Given the description of an element on the screen output the (x, y) to click on. 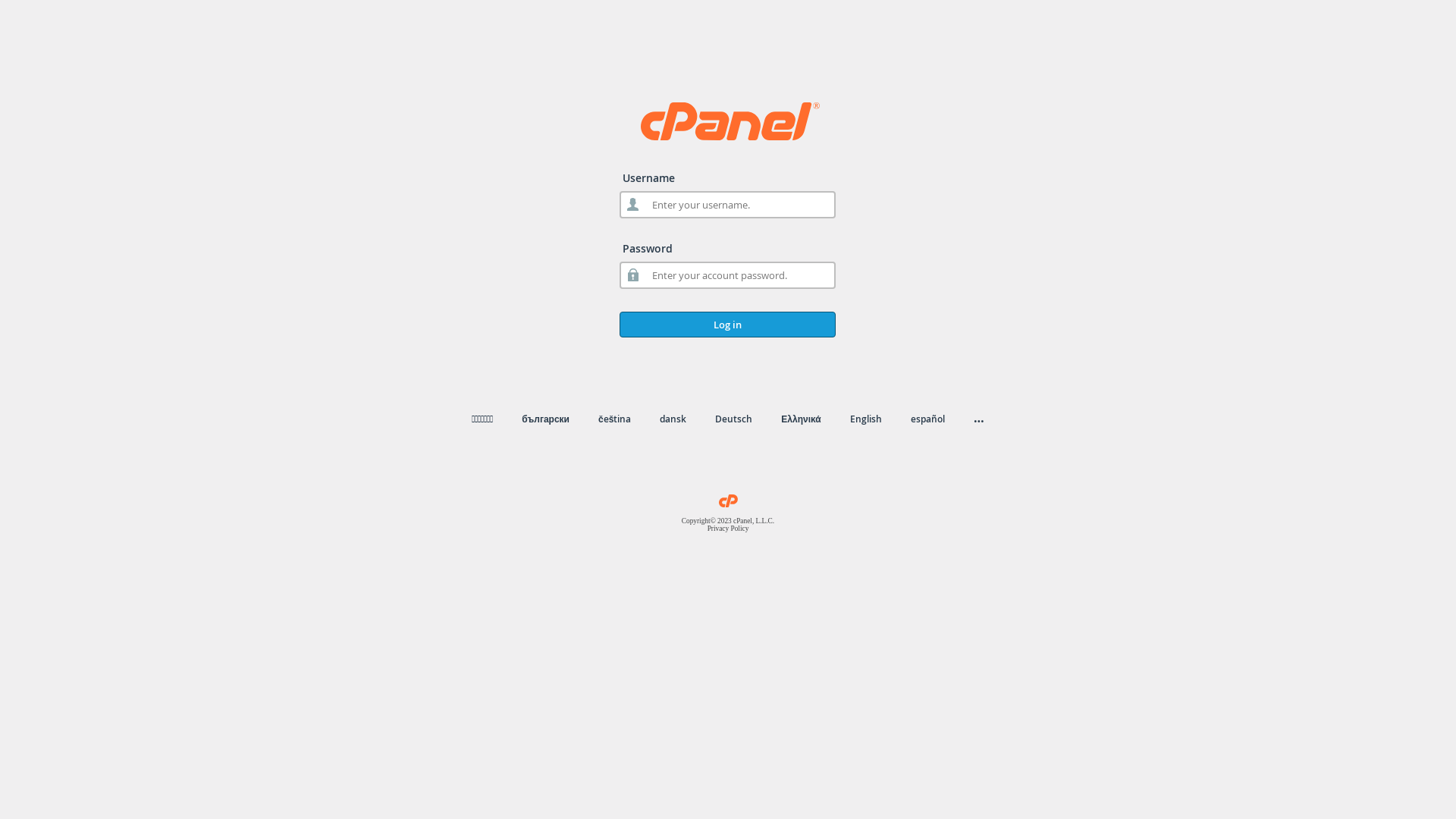
Deutsch Element type: text (733, 418)
Log in Element type: text (727, 324)
Privacy Policy Element type: text (728, 528)
English Element type: text (865, 418)
dansk Element type: text (672, 418)
